Given the description of an element on the screen output the (x, y) to click on. 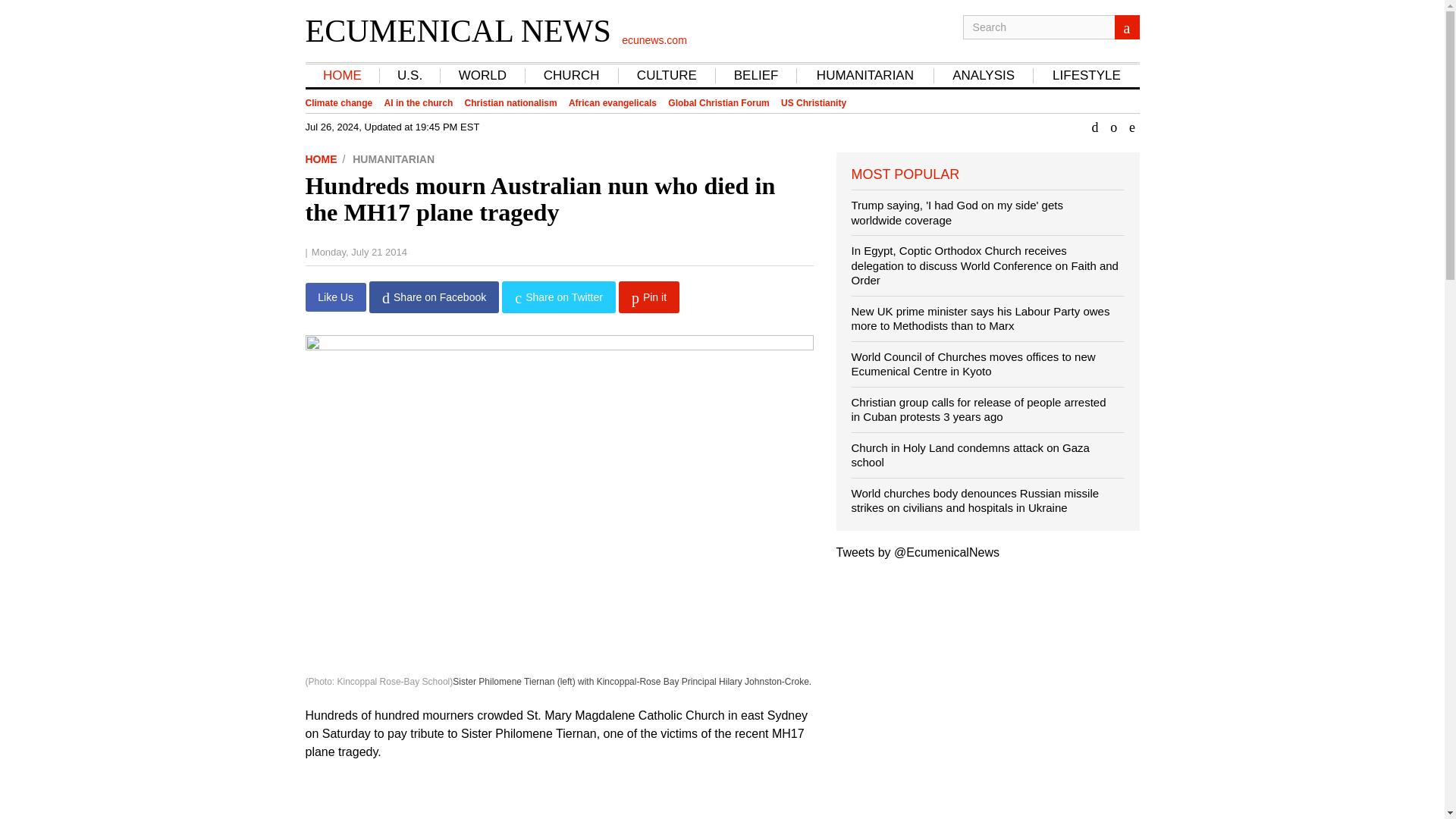
Pin it (648, 296)
HUMANITARIAN (392, 159)
Global Christian Forum (718, 103)
Share on Twitter (558, 296)
ANALYSIS (983, 75)
CHURCH (571, 75)
LIFESTYLE (1086, 75)
U.S. (410, 75)
Share on Facebook (434, 296)
CULTURE (666, 75)
HOME (342, 75)
WORLD (481, 75)
Christian nationalism (510, 103)
ecunews.com (654, 39)
BELIEF (756, 75)
